Given the description of an element on the screen output the (x, y) to click on. 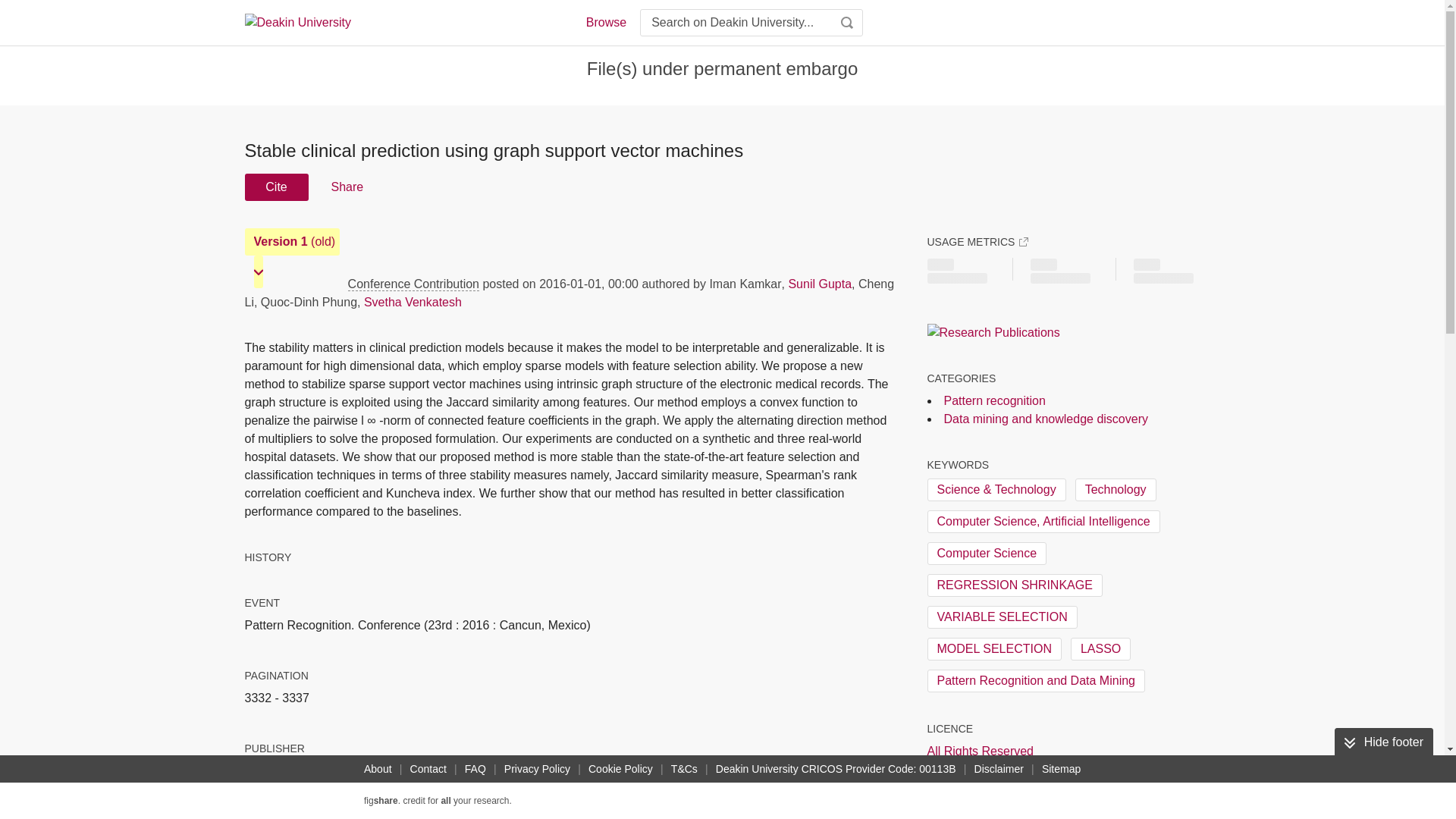
Pattern recognition (994, 400)
Pattern Recognition and Data Mining (1035, 680)
Svetha Venkatesh (412, 301)
Browse (605, 22)
FAQ (475, 769)
Share (346, 186)
VARIABLE SELECTION (1001, 617)
Data mining and knowledge discovery (1045, 418)
Contact (428, 769)
Sunil Gupta (819, 283)
